Given the description of an element on the screen output the (x, y) to click on. 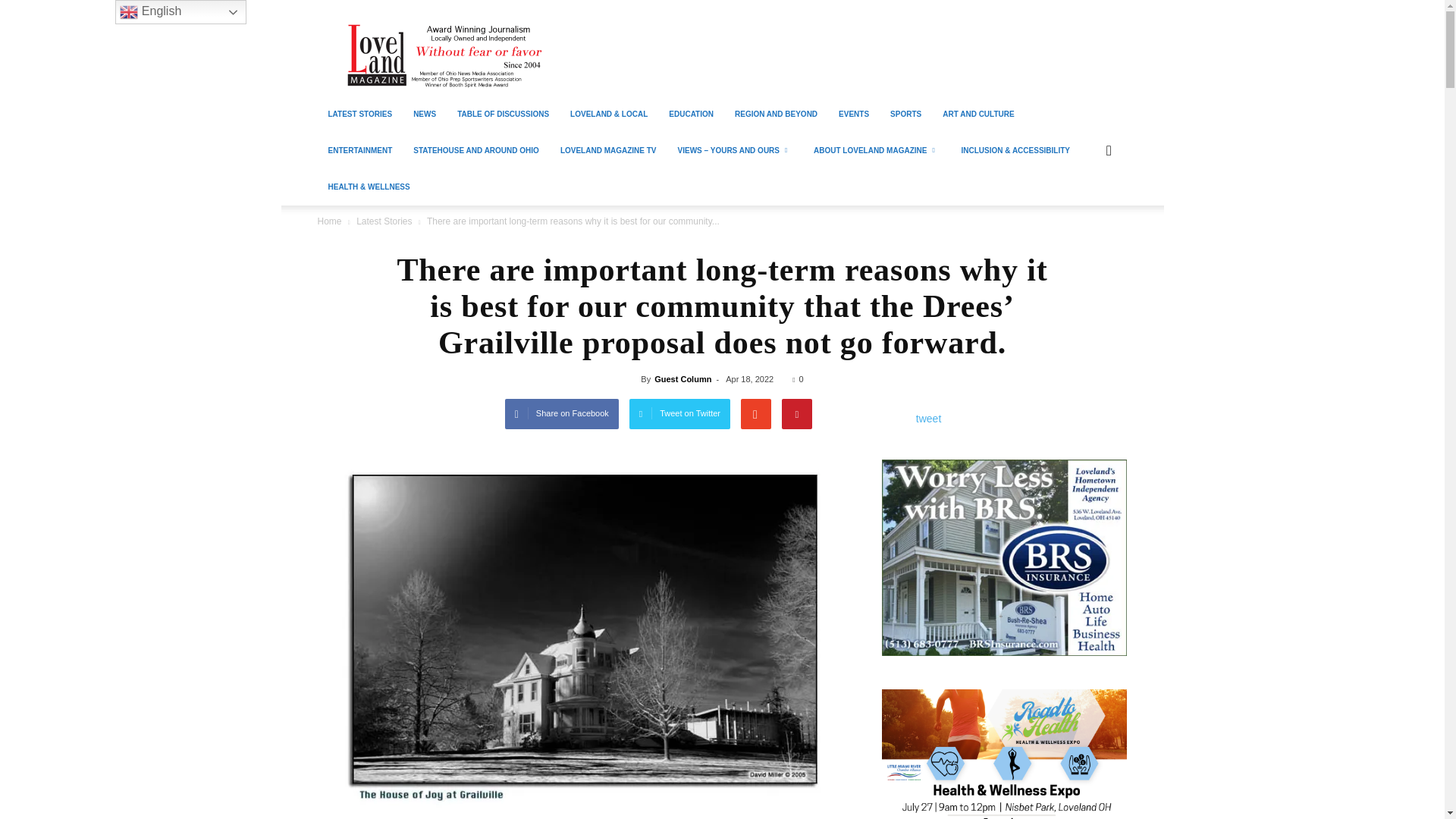
LATEST STORIES (360, 114)
View all posts in Latest Stories (384, 221)
EVENTS (853, 114)
ENTERTAINMENT (360, 150)
SPORTS (905, 114)
ART AND CULTURE (978, 114)
TABLE OF DISCUSSIONS (502, 114)
REGION AND BEYOND (775, 114)
STATEHOUSE AND AROUND OHIO (476, 150)
EDUCATION (690, 114)
NEWS (424, 114)
